Given the description of an element on the screen output the (x, y) to click on. 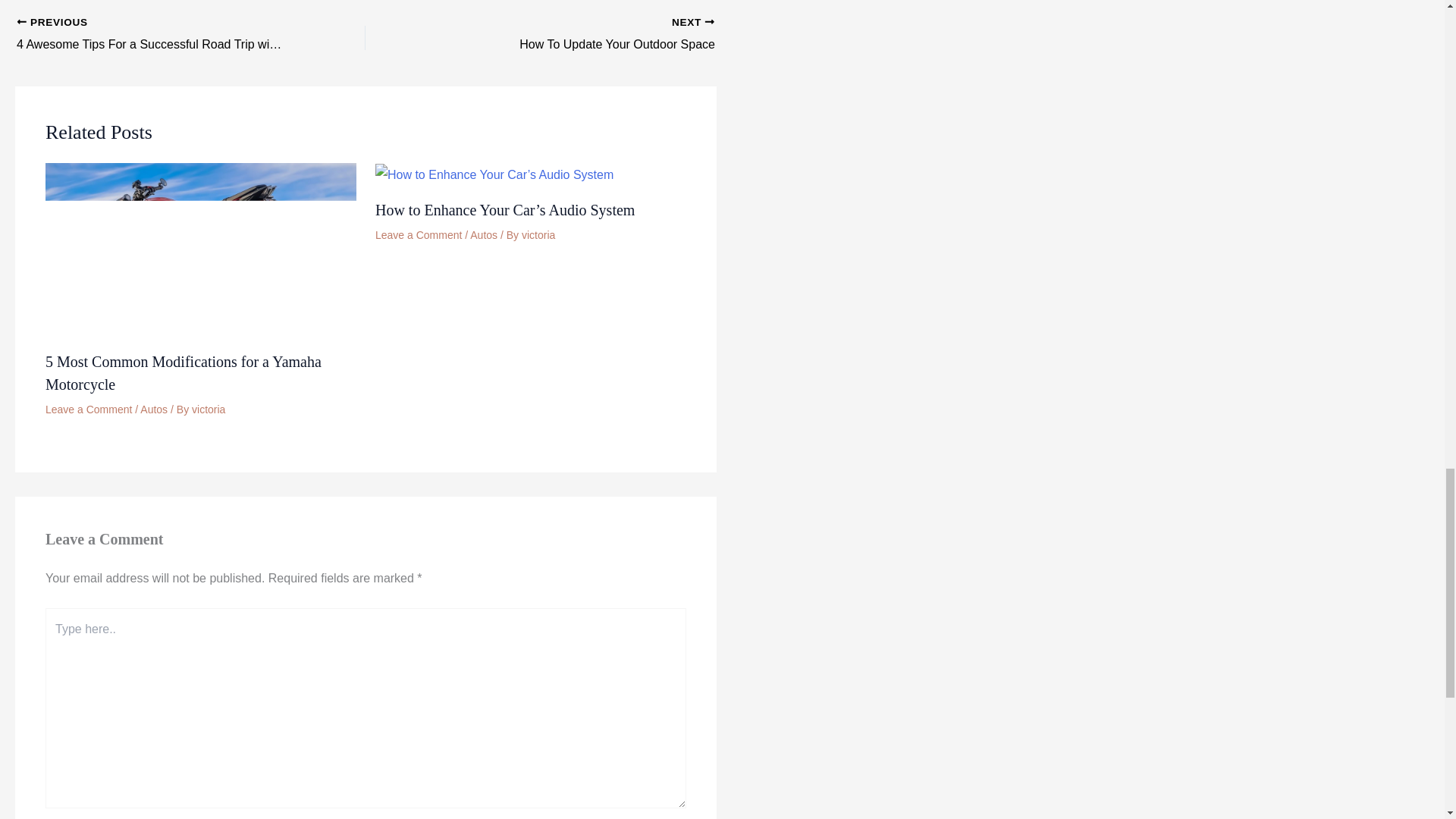
4 Awesome Tips For a Successful Road Trip with Your Friends (156, 34)
How To Update Your Outdoor Space (573, 34)
View all posts by victoria (573, 34)
View all posts by victoria (208, 409)
